Given the description of an element on the screen output the (x, y) to click on. 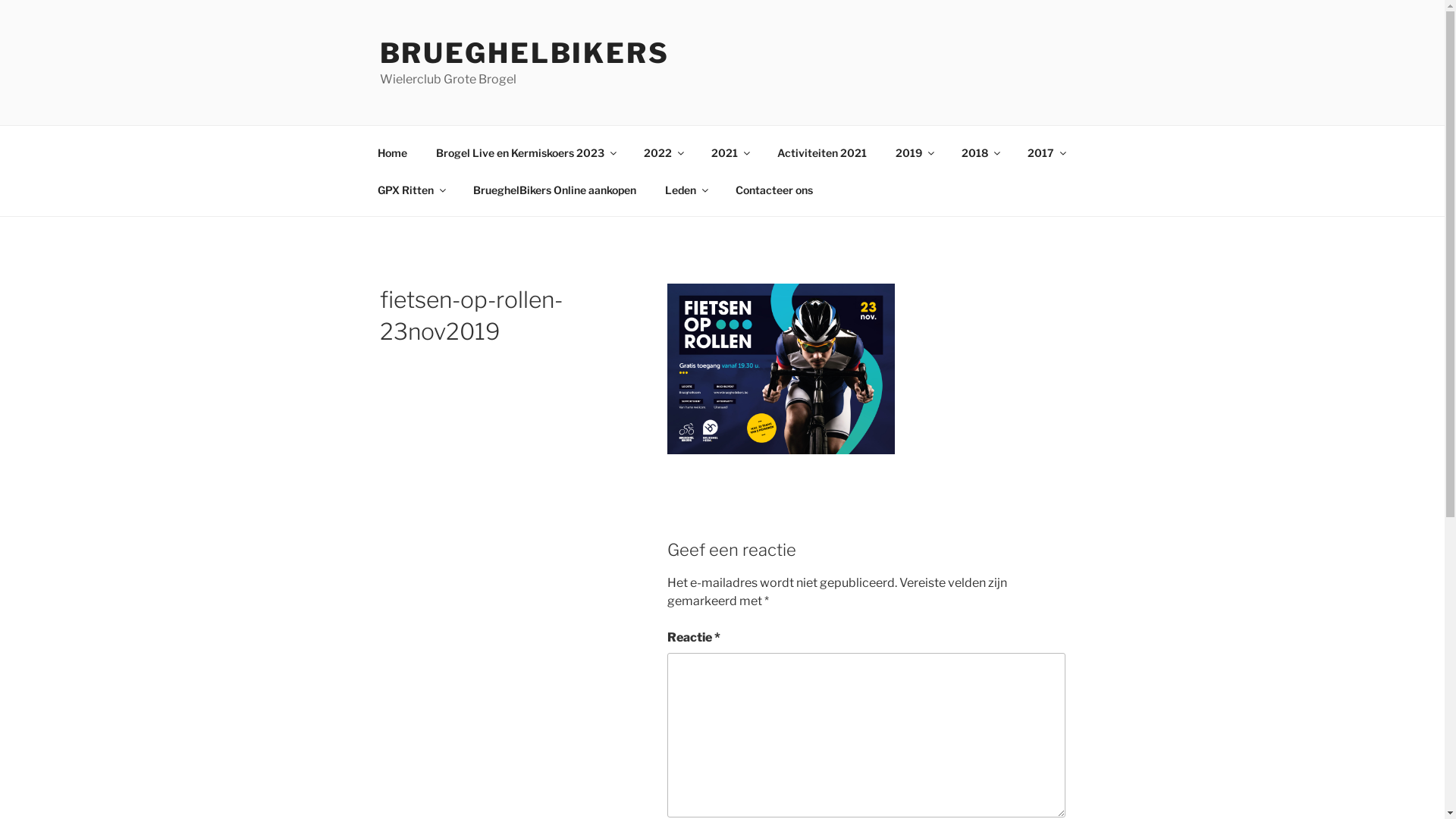
GPX Ritten Element type: text (410, 189)
2017 Element type: text (1046, 151)
Leden Element type: text (686, 189)
Contacteer ons Element type: text (773, 189)
Activiteiten 2021 Element type: text (822, 151)
BRUEGHELBIKERS Element type: text (523, 52)
2018 Element type: text (979, 151)
2022 Element type: text (663, 151)
2021 Element type: text (729, 151)
BrueghelBikers Online aankopen Element type: text (554, 189)
2019 Element type: text (914, 151)
Brogel Live en Kermiskoers 2023 Element type: text (525, 151)
Home Element type: text (392, 151)
